Given the description of an element on the screen output the (x, y) to click on. 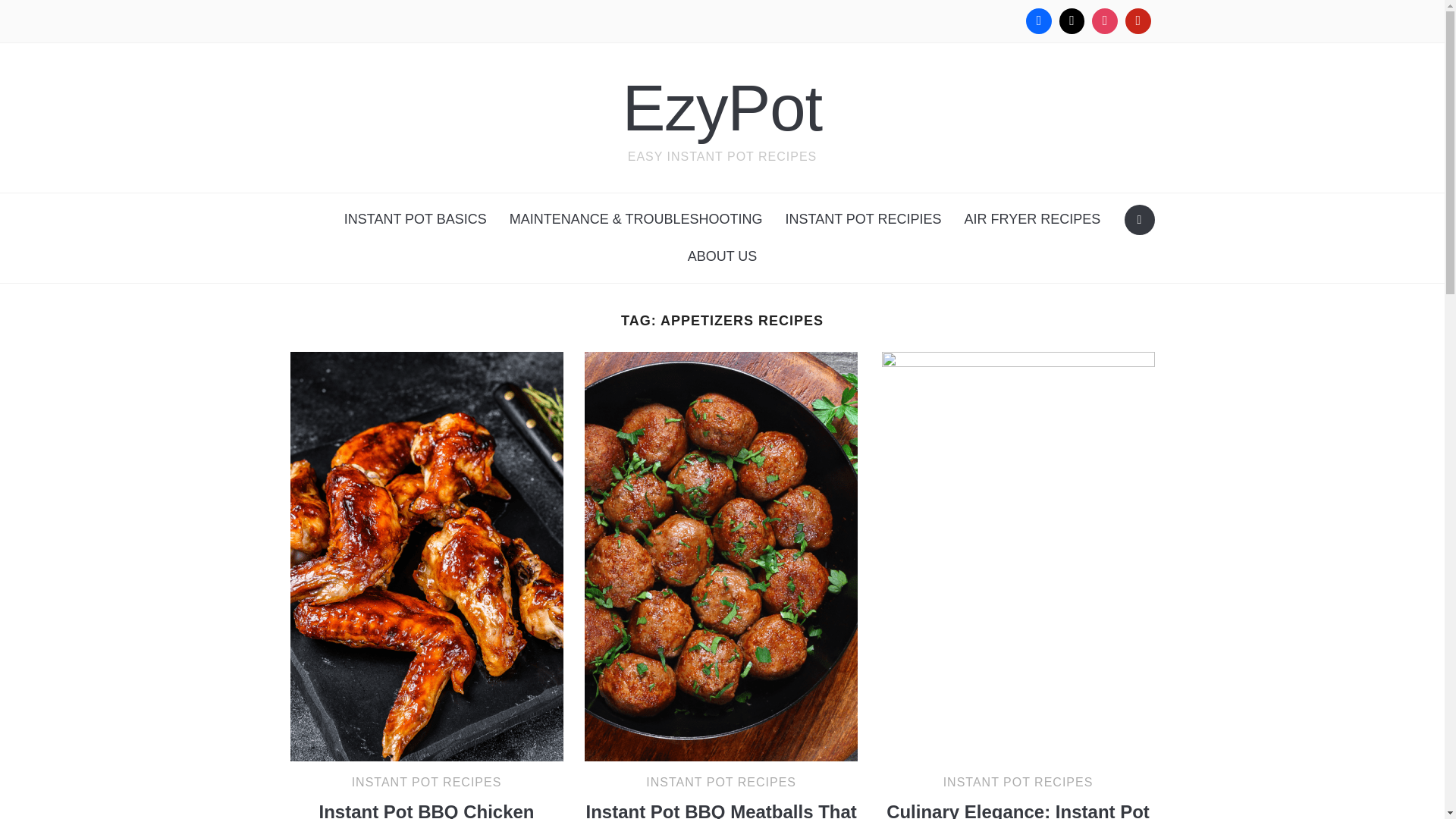
INSTANT POT RECIPIES (862, 219)
Pinterest (1137, 20)
EzyPot (722, 108)
Culinary Elegance: Instant Pot Stuffed Mushrooms (1018, 810)
INSTANT POT BASICS (415, 219)
X (1072, 20)
ABOUT US (722, 256)
Search (1139, 219)
Culinary Elegance: Instant Pot Stuffed Mushrooms (1017, 554)
Facebook (1038, 20)
